Given the description of an element on the screen output the (x, y) to click on. 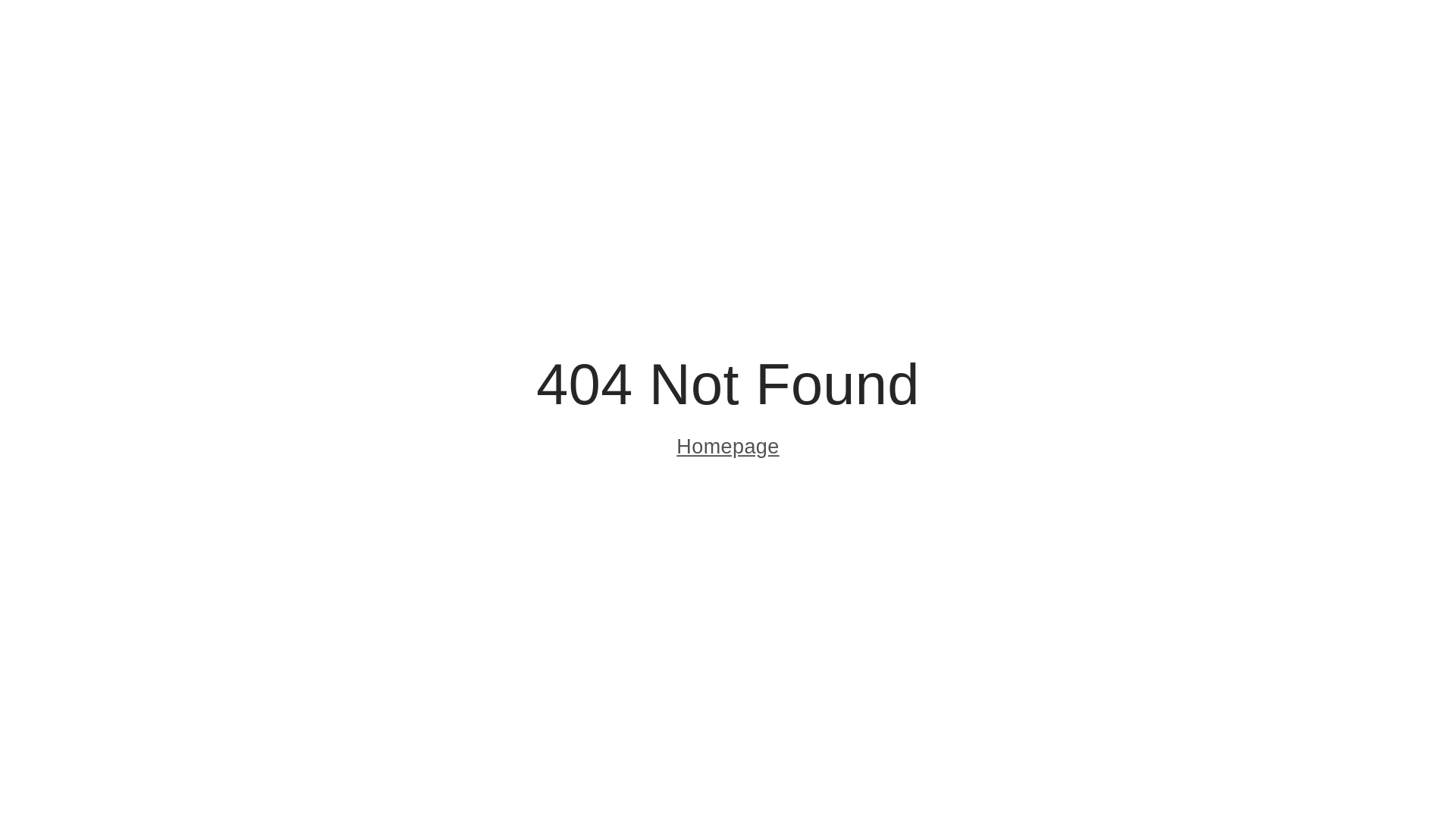
Homepage Element type: text (727, 448)
